Given the description of an element on the screen output the (x, y) to click on. 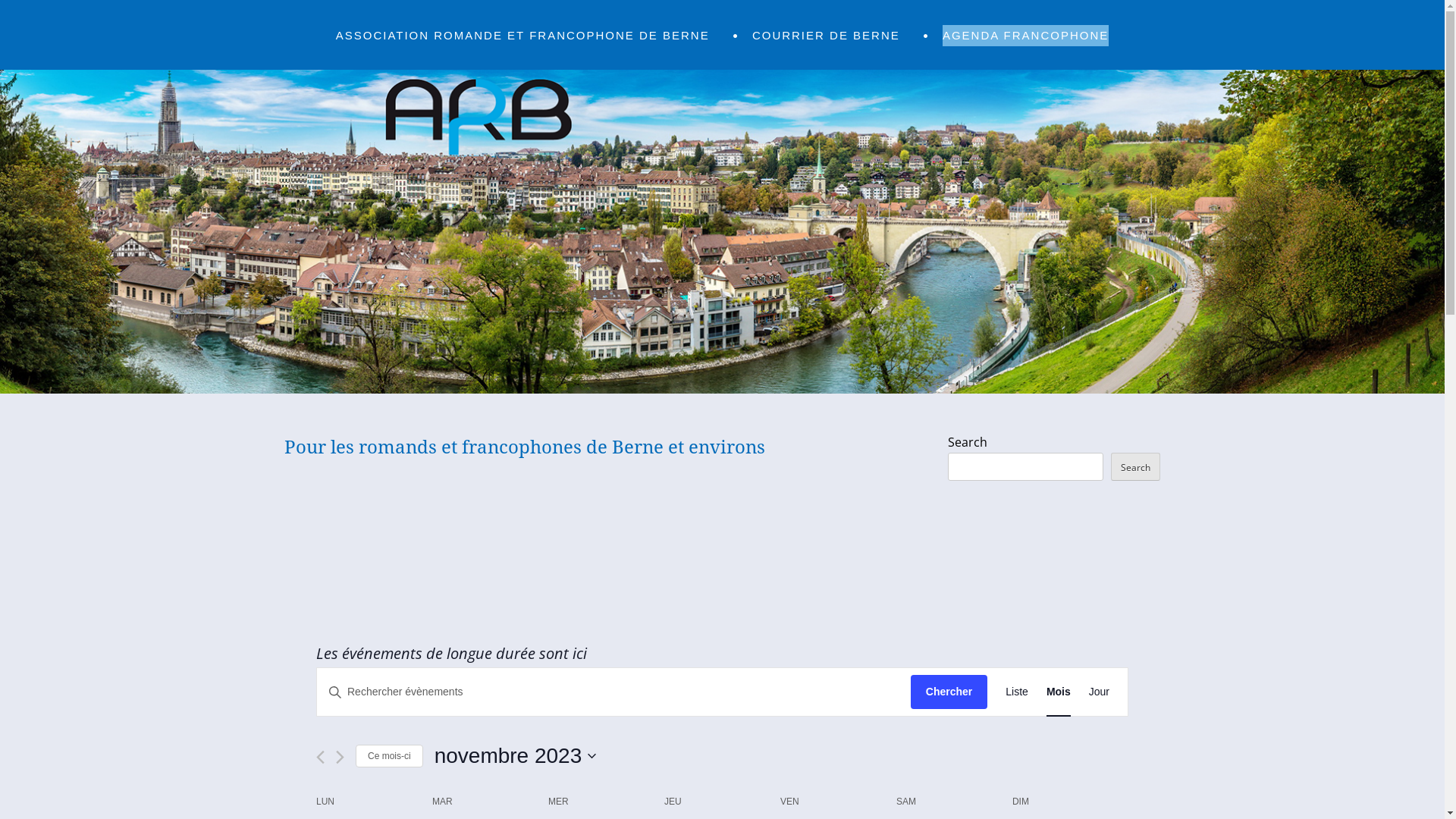
Liste Element type: text (1016, 691)
Jour Element type: text (1098, 691)
Ce mois-ci Element type: text (389, 756)
ASSOCIATION ROMANDE ET FRANCOPHONE DE BERNE ET ENVIRONS Element type: text (405, 558)
novembre 2023 Element type: text (515, 755)
COURRIER DE BERNE Element type: text (826, 35)
Skip to content Element type: text (283, 56)
AGENDA FRANCOPHONE Element type: text (1025, 35)
Mois suivant Element type: hover (339, 756)
Ville de Berne et lien retour acceuil Element type: hover (722, 388)
Mois Element type: text (1058, 691)
Chercher Element type: text (948, 691)
ASSOCIATION ROMANDE ET FRANCOPHONE DE BERNE Element type: text (522, 35)
Search Element type: text (1135, 466)
